Given the description of an element on the screen output the (x, y) to click on. 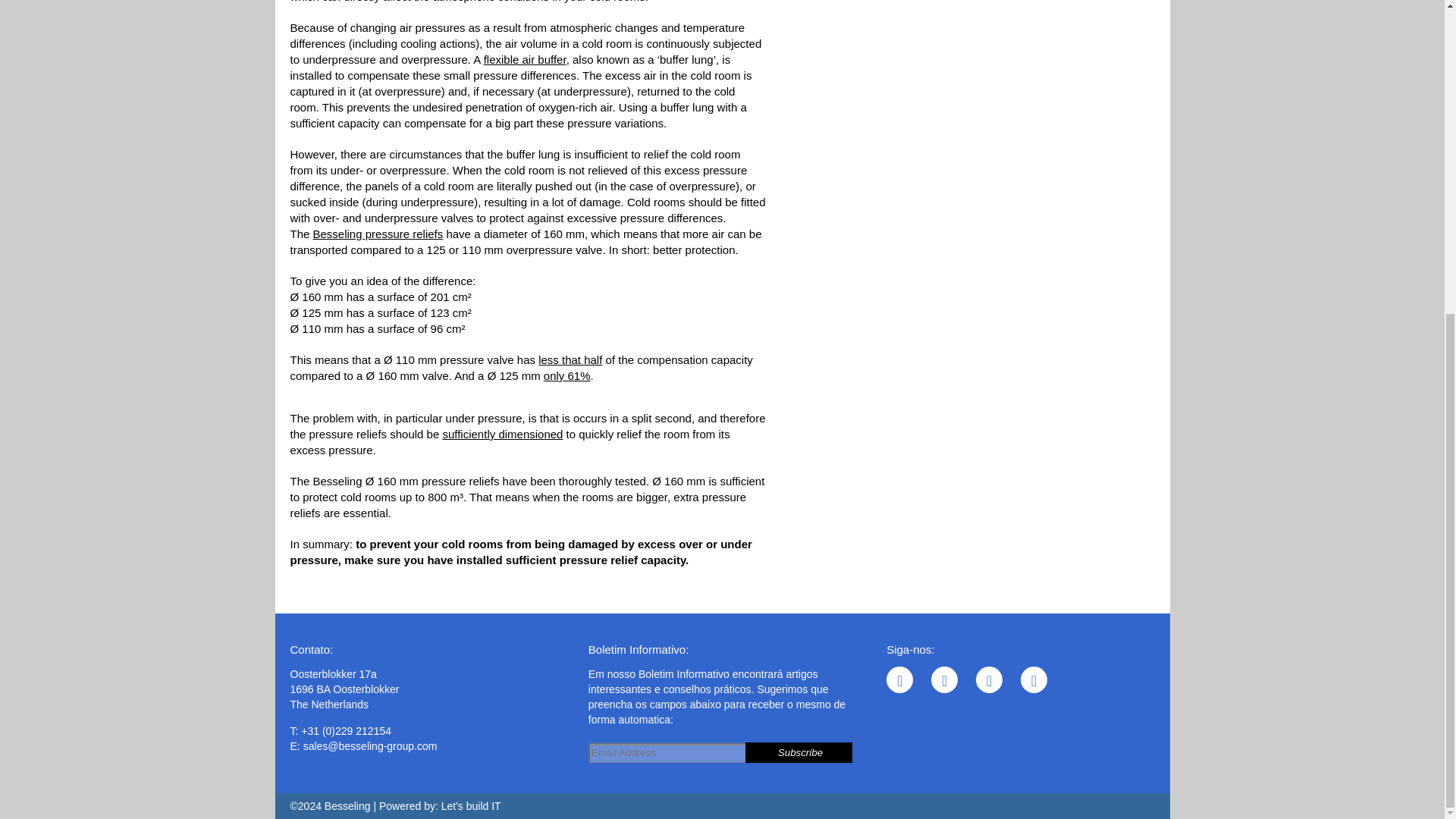
Subscribe (798, 752)
